Given the description of an element on the screen output the (x, y) to click on. 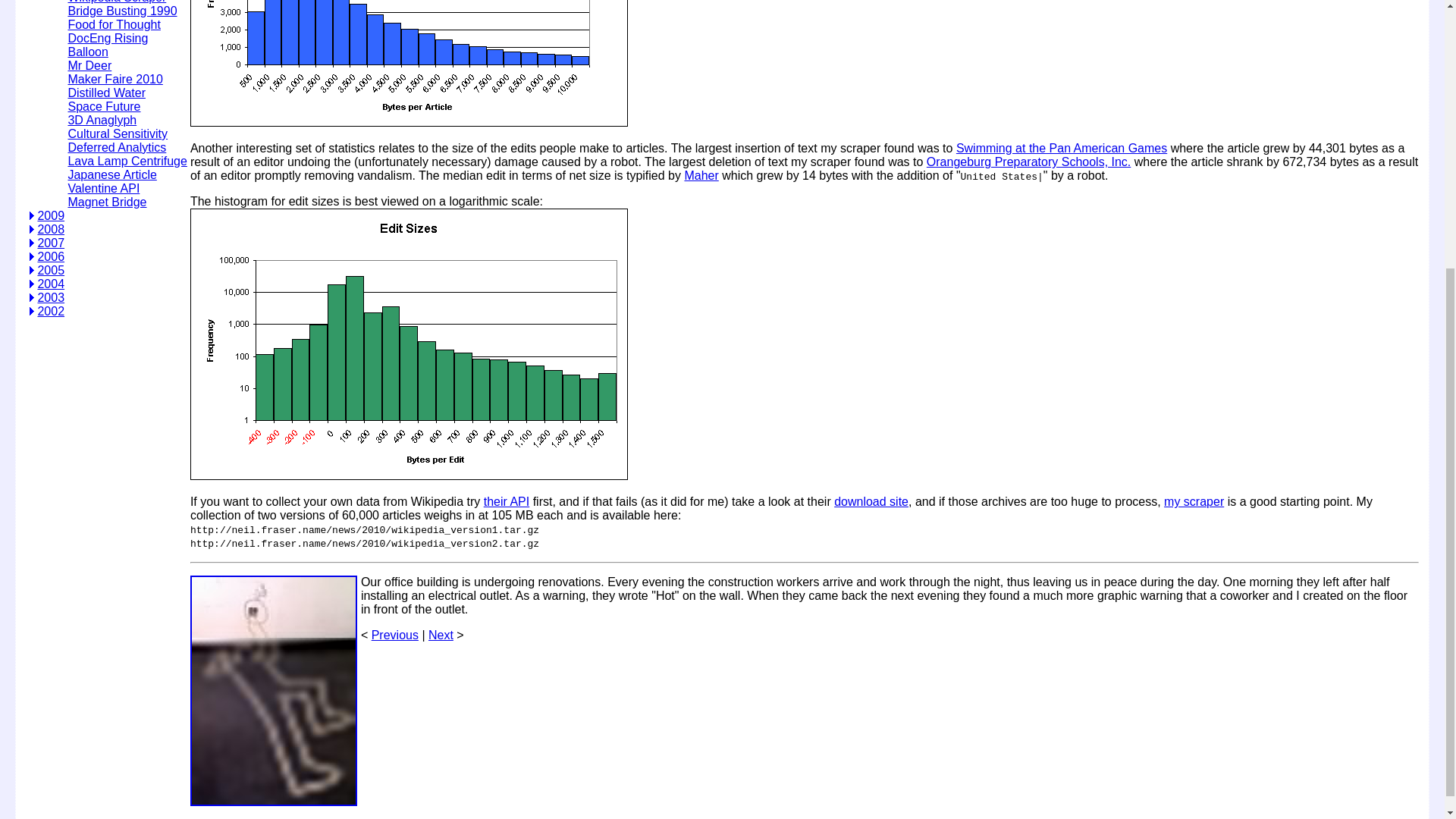
23 September 2010 (107, 38)
20 October 2010 (115, 2)
Balloon (86, 51)
Mr Deer (89, 65)
11 October 2010 (121, 10)
Wikipedia Scraper (115, 2)
10 July 2010 (86, 51)
Food for Thought (113, 24)
Bridge Busting 1990 (121, 10)
30 September 2010 (113, 24)
